Given the description of an element on the screen output the (x, y) to click on. 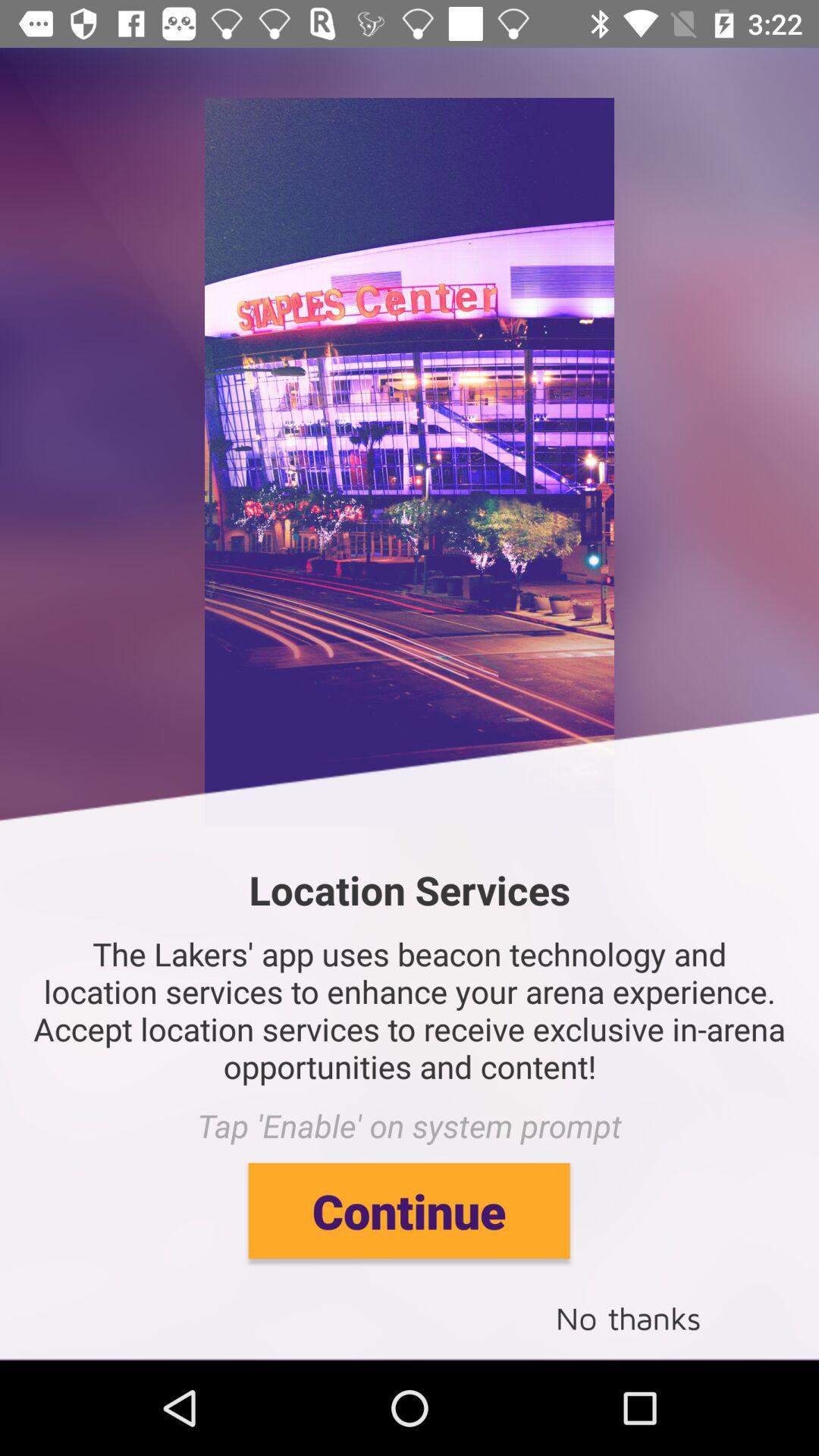
tap continue item (408, 1210)
